Given the description of an element on the screen output the (x, y) to click on. 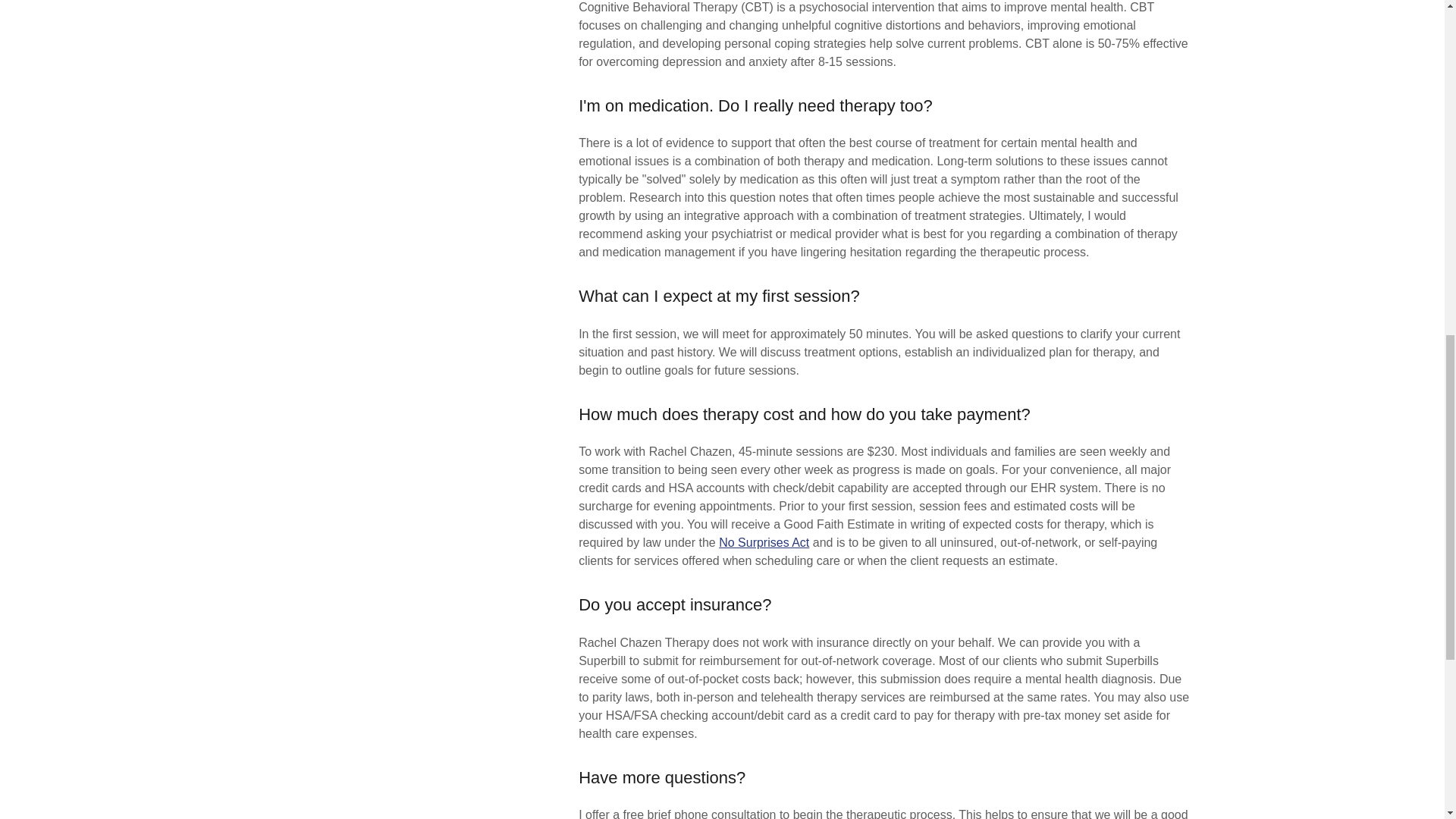
No Surprises Act (764, 542)
ACCEPT (1274, 324)
